Given the description of an element on the screen output the (x, y) to click on. 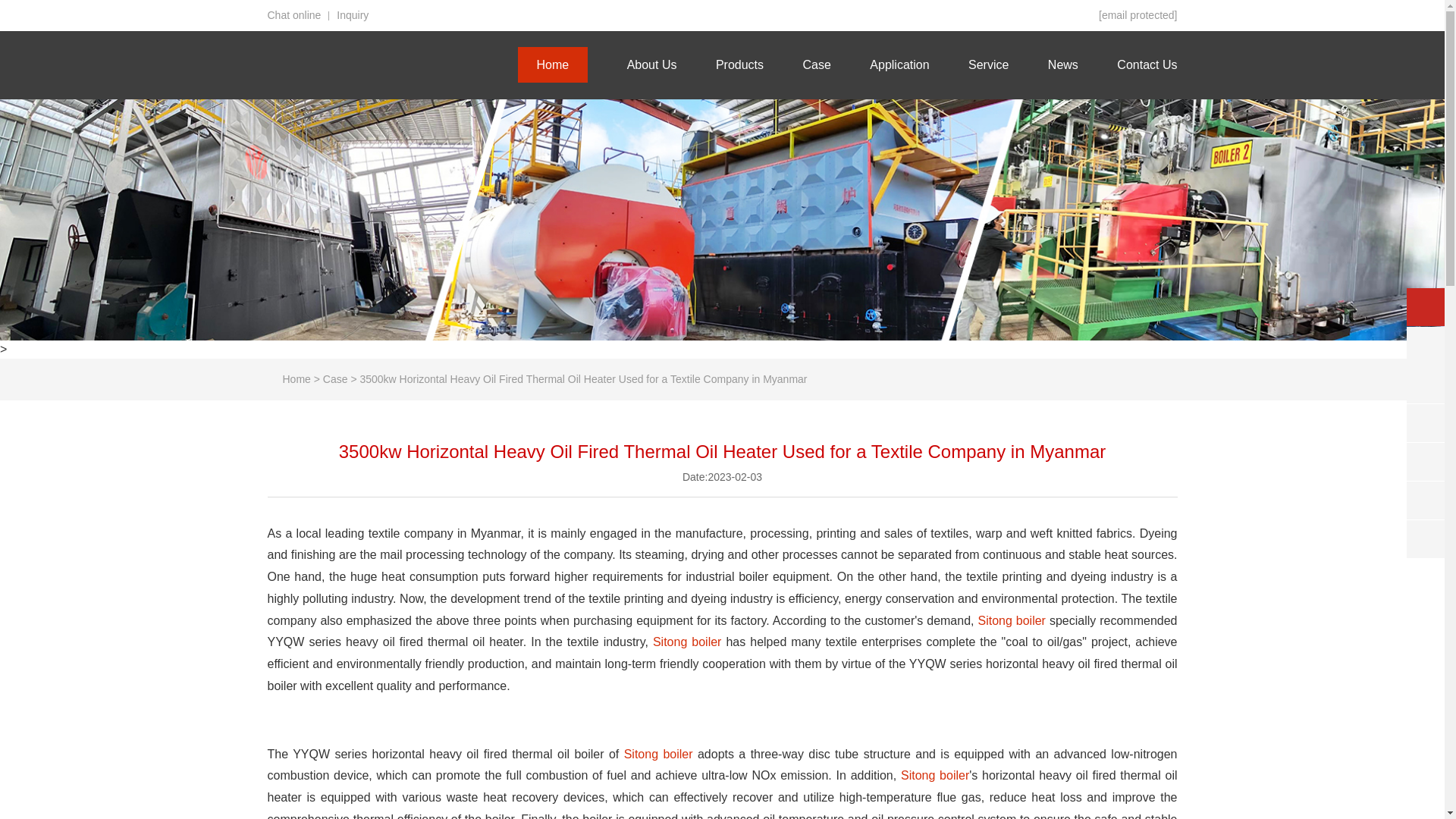
Chat online (293, 15)
Home (552, 64)
Case (815, 64)
Contact Us (1146, 64)
About Us (652, 64)
Service (988, 64)
News (1063, 64)
Inquiry (352, 15)
Application (898, 64)
Products (739, 64)
